Given the description of an element on the screen output the (x, y) to click on. 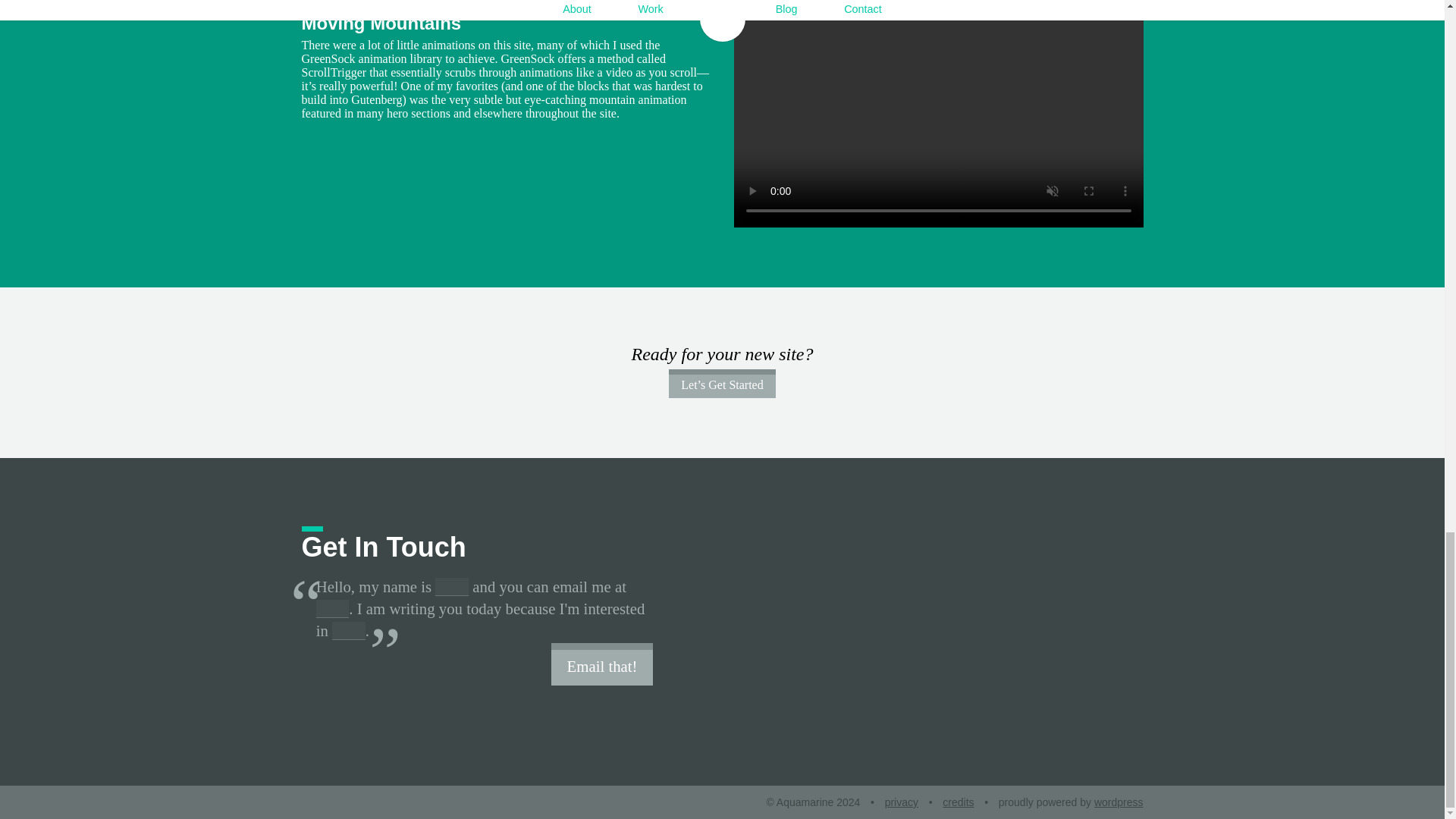
privacy (901, 802)
3.1 (308, 6)
credits (958, 802)
Email that! (602, 663)
wordpress (1118, 802)
